Given the description of an element on the screen output the (x, y) to click on. 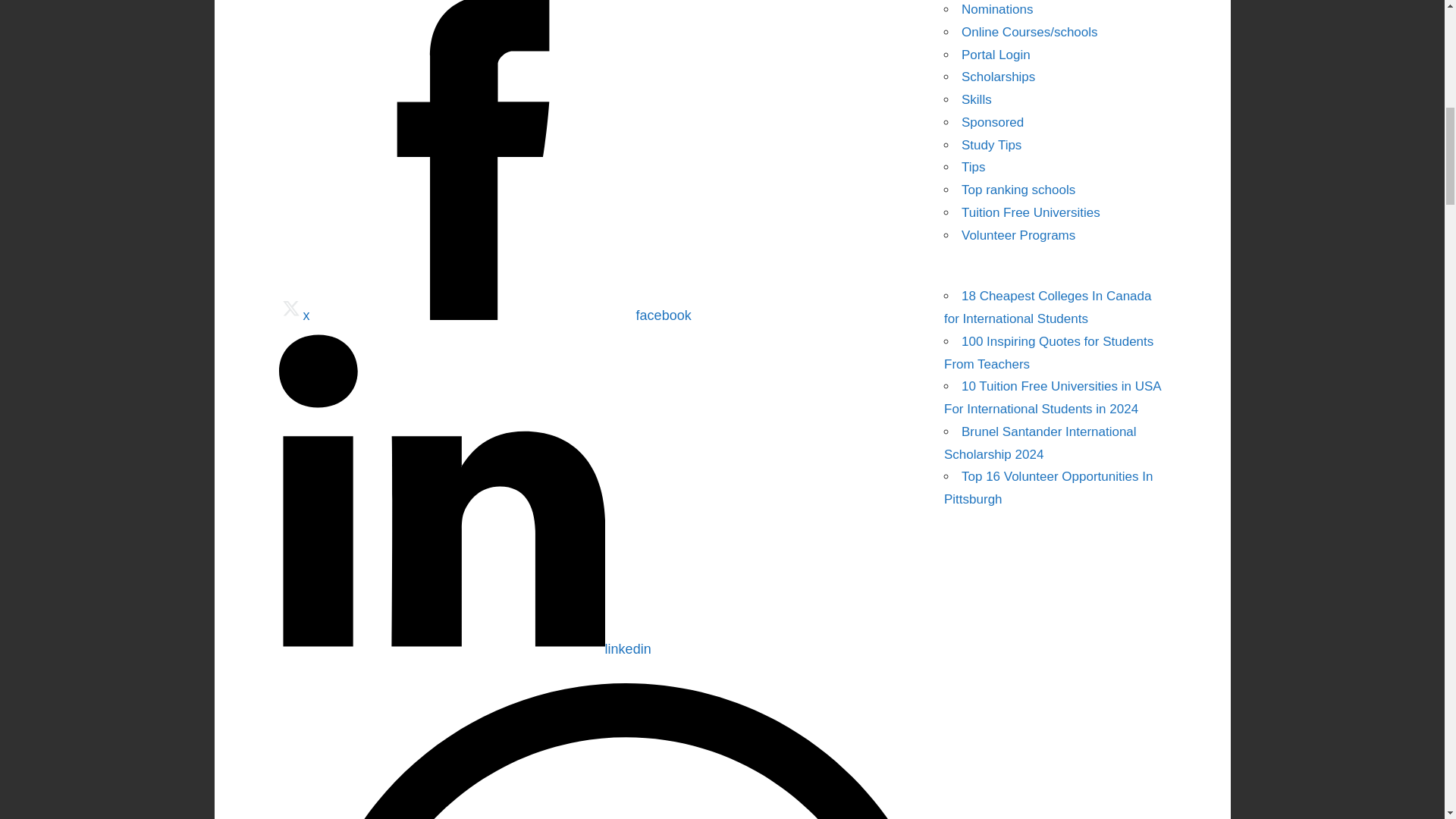
facebook (499, 314)
linkedin (464, 648)
x (294, 314)
